Given the description of an element on the screen output the (x, y) to click on. 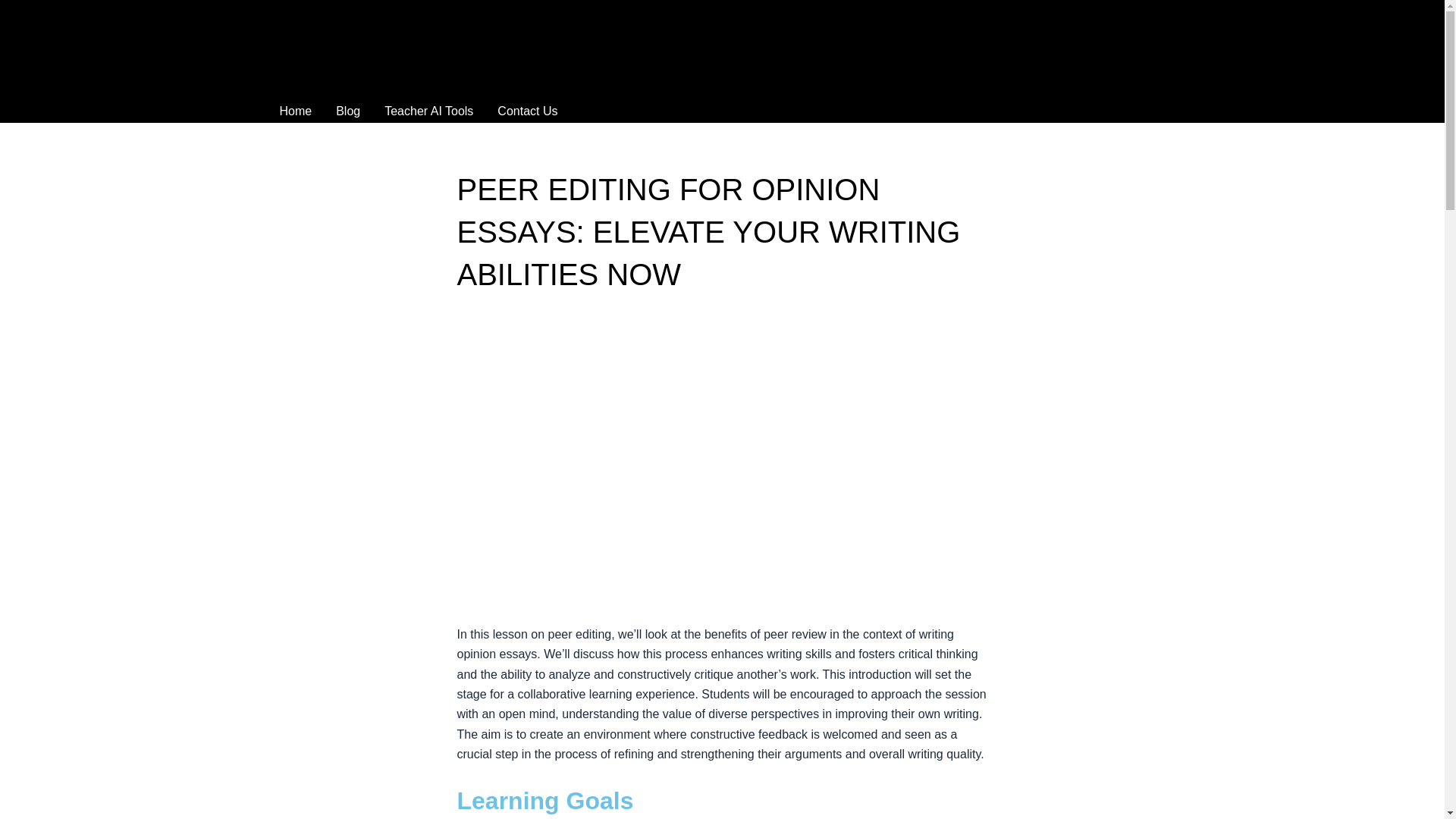
Contact Us (526, 110)
Blog (347, 110)
Teacher AI Tools (428, 110)
Home (294, 110)
